Given the description of an element on the screen output the (x, y) to click on. 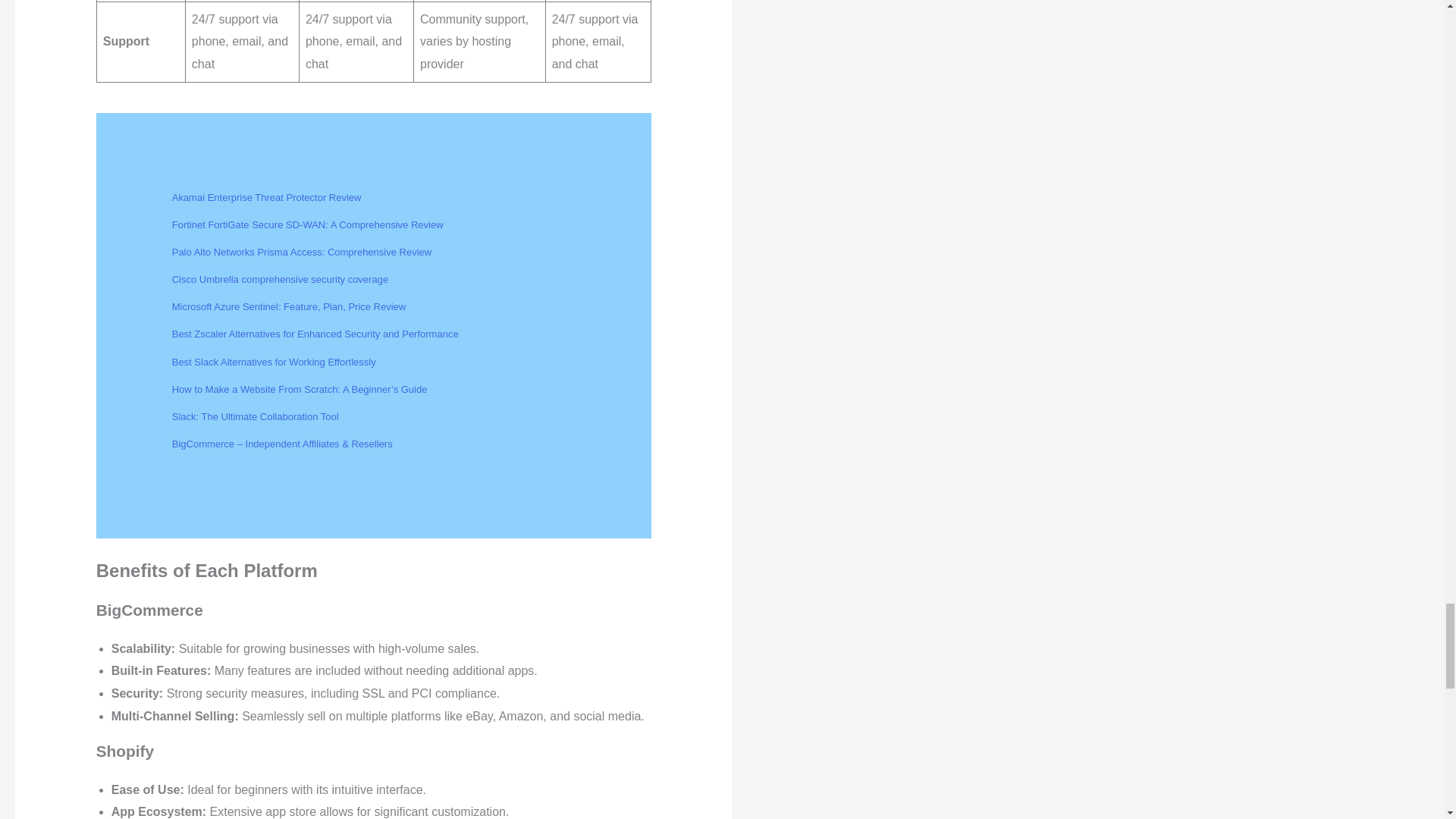
Cisco Umbrella comprehensive security coverage (279, 279)
Akamai Enterprise Threat Protector Review (266, 197)
Fortinet FortiGate Secure SD-WAN: A Comprehensive Review (307, 224)
Best Slack Alternatives for Working Effortlessly (273, 361)
Slack: The Ultimate Collaboration Tool (255, 416)
Microsoft Azure Sentinel: Feature, Plan, Price Review (288, 306)
Palo Alto Networks Prisma Access: Comprehensive Review (300, 251)
